Given the description of an element on the screen output the (x, y) to click on. 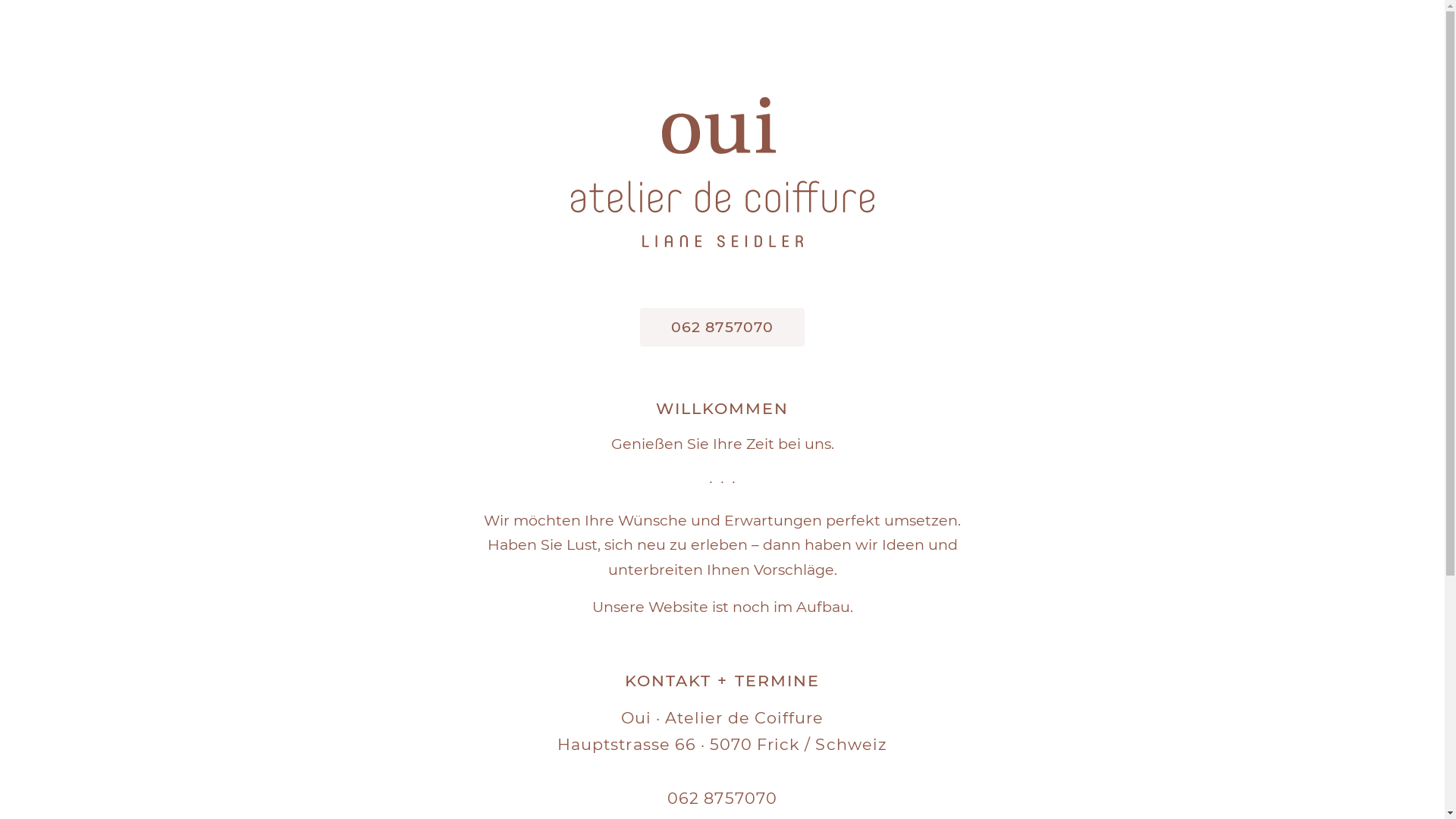
5070 Frick / Schweiz Element type: text (798, 743)
062 8757070 Element type: text (721, 797)
062 8757070 Element type: text (721, 326)
Hauptstrasse 66 Element type: text (626, 743)
